Given the description of an element on the screen output the (x, y) to click on. 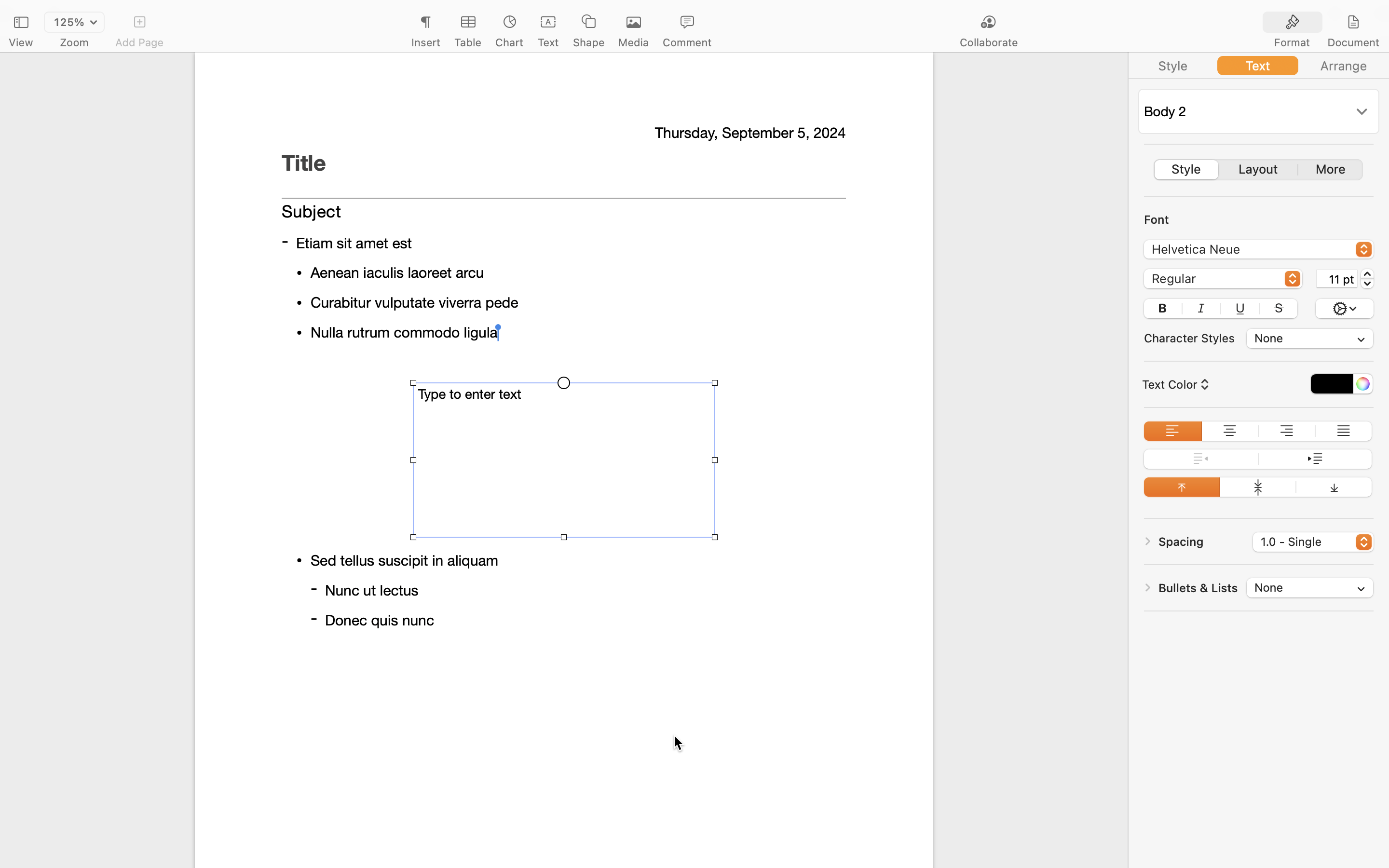
Untitled Element type: AXStaticText (667, 12)
Click to link text boxes together. Element type: AXStaticText (563, 284)
11.0 Element type: AXIncrementor (1367, 278)
Zoom Element type: AXStaticText (73, 42)
